Given the description of an element on the screen output the (x, y) to click on. 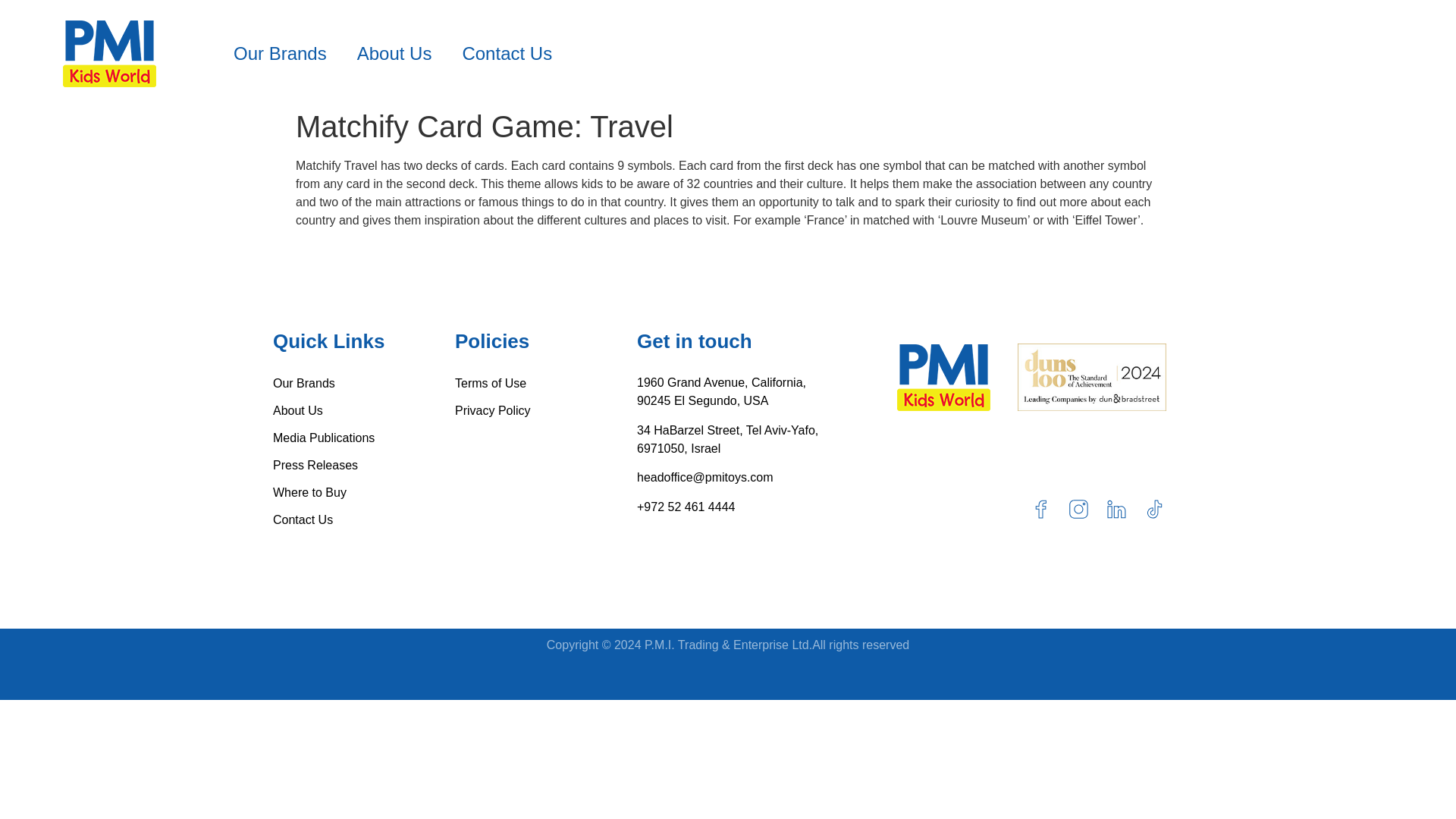
About Us (363, 410)
About Us (394, 53)
Privacy Policy (545, 410)
Contact Us (363, 519)
Press Releases (363, 465)
Our Brands (280, 53)
Terms of Use (545, 383)
Media Publications (363, 437)
Our Brands (363, 383)
Where to Buy (363, 492)
